Given the description of an element on the screen output the (x, y) to click on. 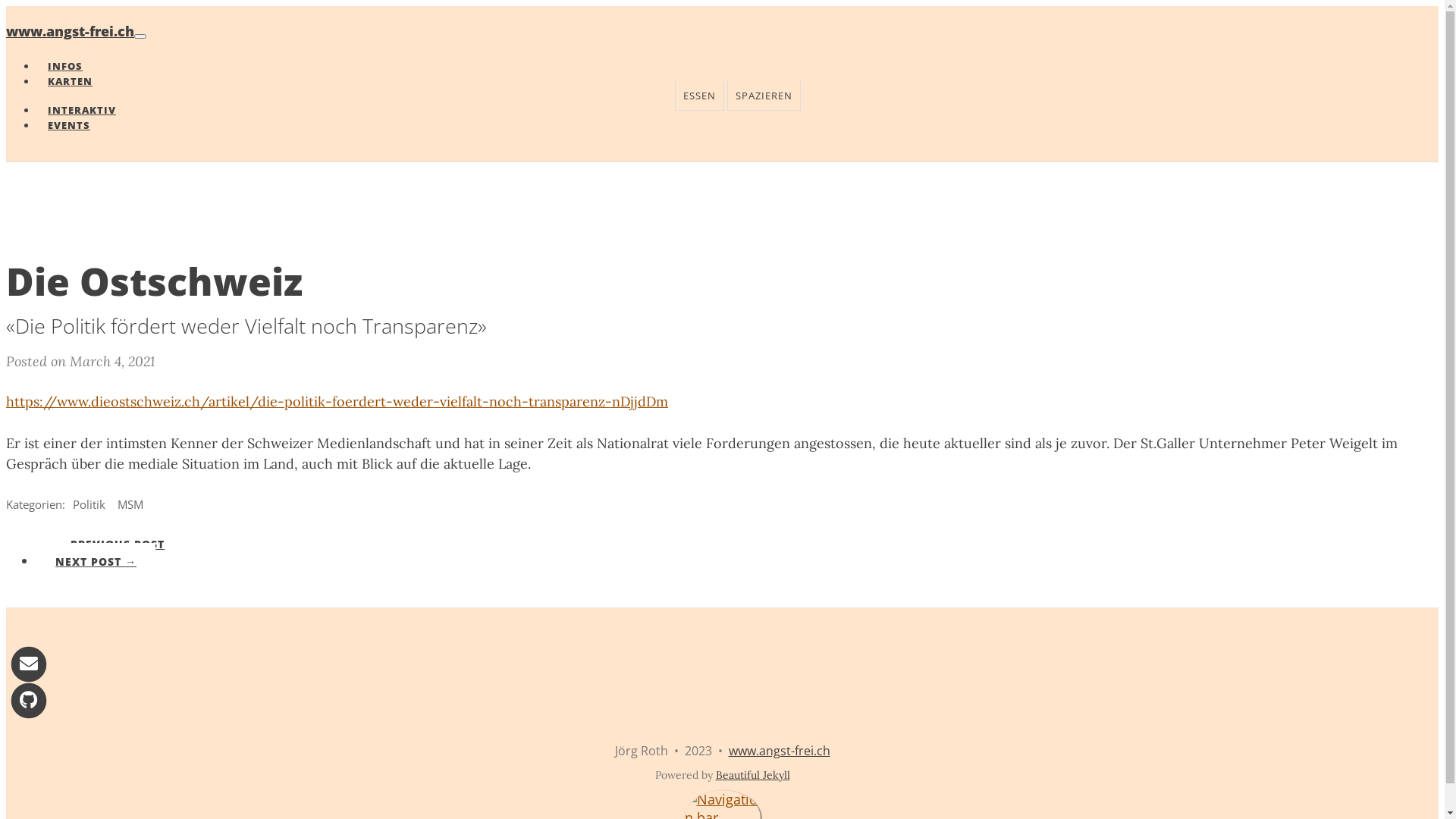
KARTEN Element type: text (69, 80)
www.angst-frei.ch Element type: text (70, 30)
EVENTS Element type: text (63, 124)
Beautiful Jekyll Element type: text (752, 774)
SPAZIEREN Element type: text (763, 95)
GitHub Element type: text (28, 698)
INFOS Element type: text (65, 65)
MSM Element type: text (129, 503)
www.angst-frei.ch Element type: text (778, 750)
INTERAKTIV Element type: text (81, 109)
ESSEN Element type: text (699, 95)
Email me Element type: text (28, 662)
Politik Element type: text (88, 503)
